Given the description of an element on the screen output the (x, y) to click on. 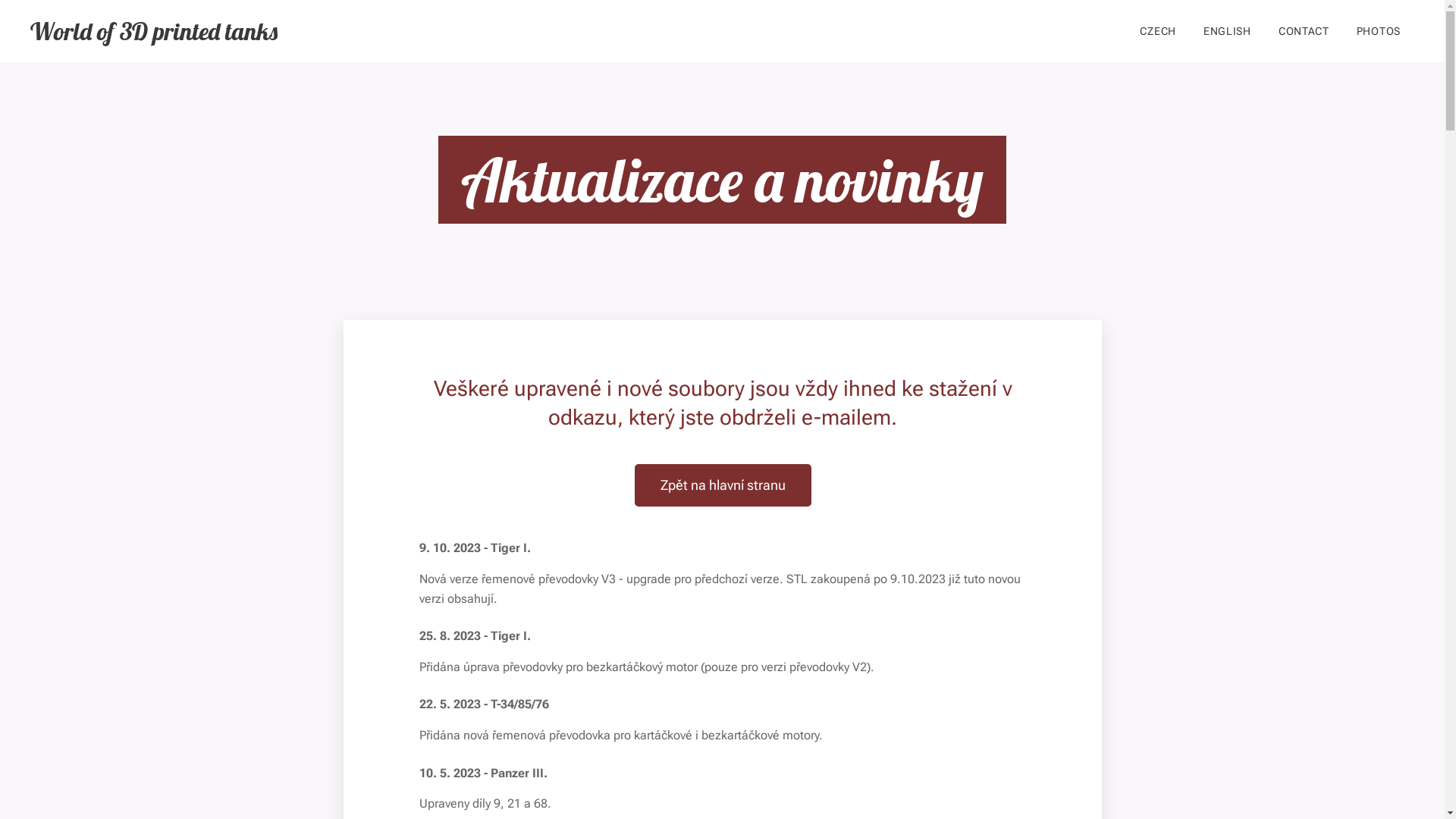
World of 3D printed tanks Element type: text (153, 30)
CZECH Element type: text (1157, 31)
CONTACT Element type: text (1303, 31)
PHOTOS Element type: text (1378, 31)
ENGLISH Element type: text (1226, 31)
